Given the description of an element on the screen output the (x, y) to click on. 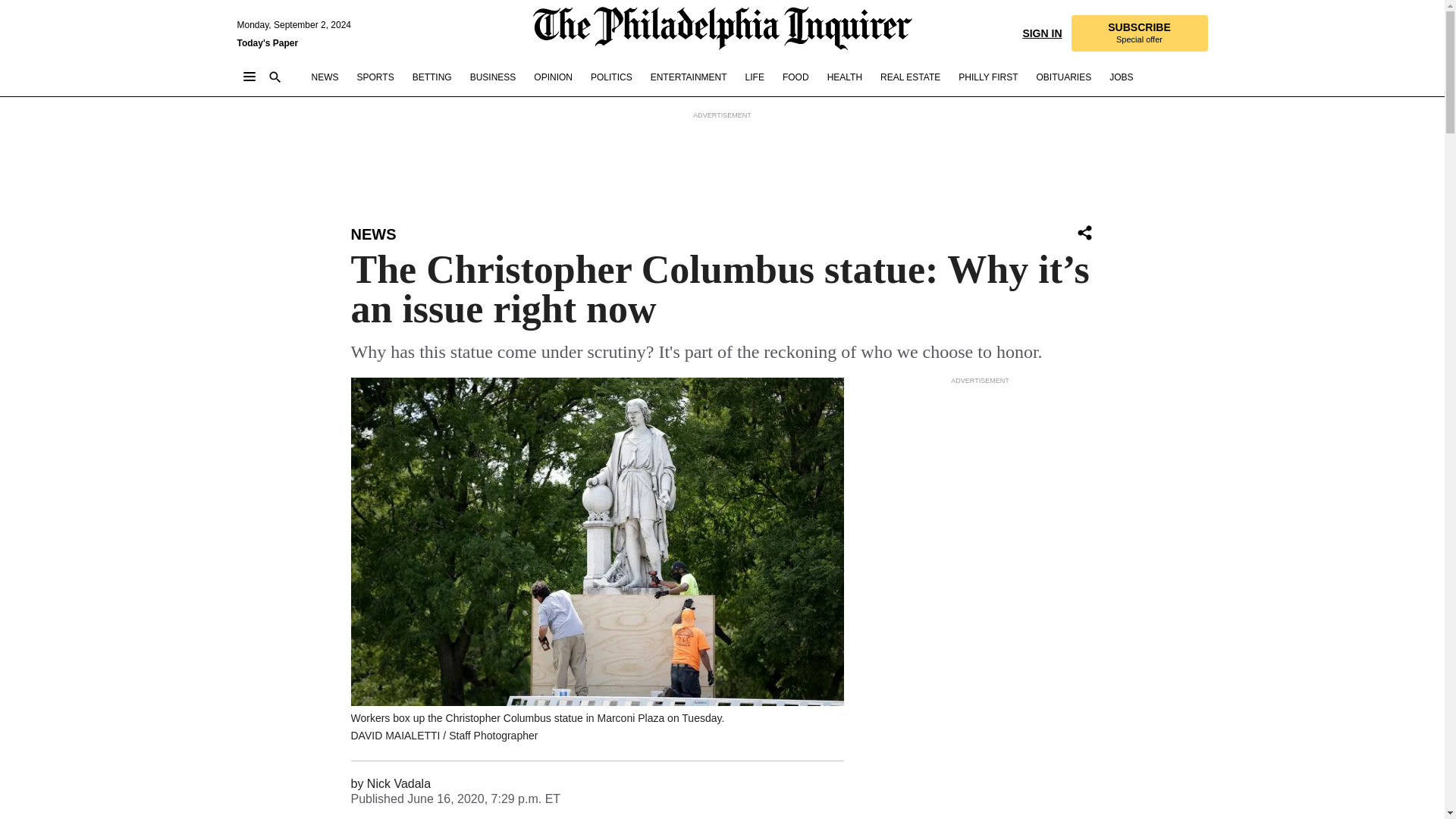
FOOD (796, 77)
News (373, 234)
SIGN IN (1041, 32)
OBITUARIES (1062, 77)
Share Icon (1084, 233)
OPINION (553, 77)
HEALTH (844, 77)
REAL ESTATE (910, 77)
LIFE (754, 77)
POLITICS (611, 77)
